Given the description of an element on the screen output the (x, y) to click on. 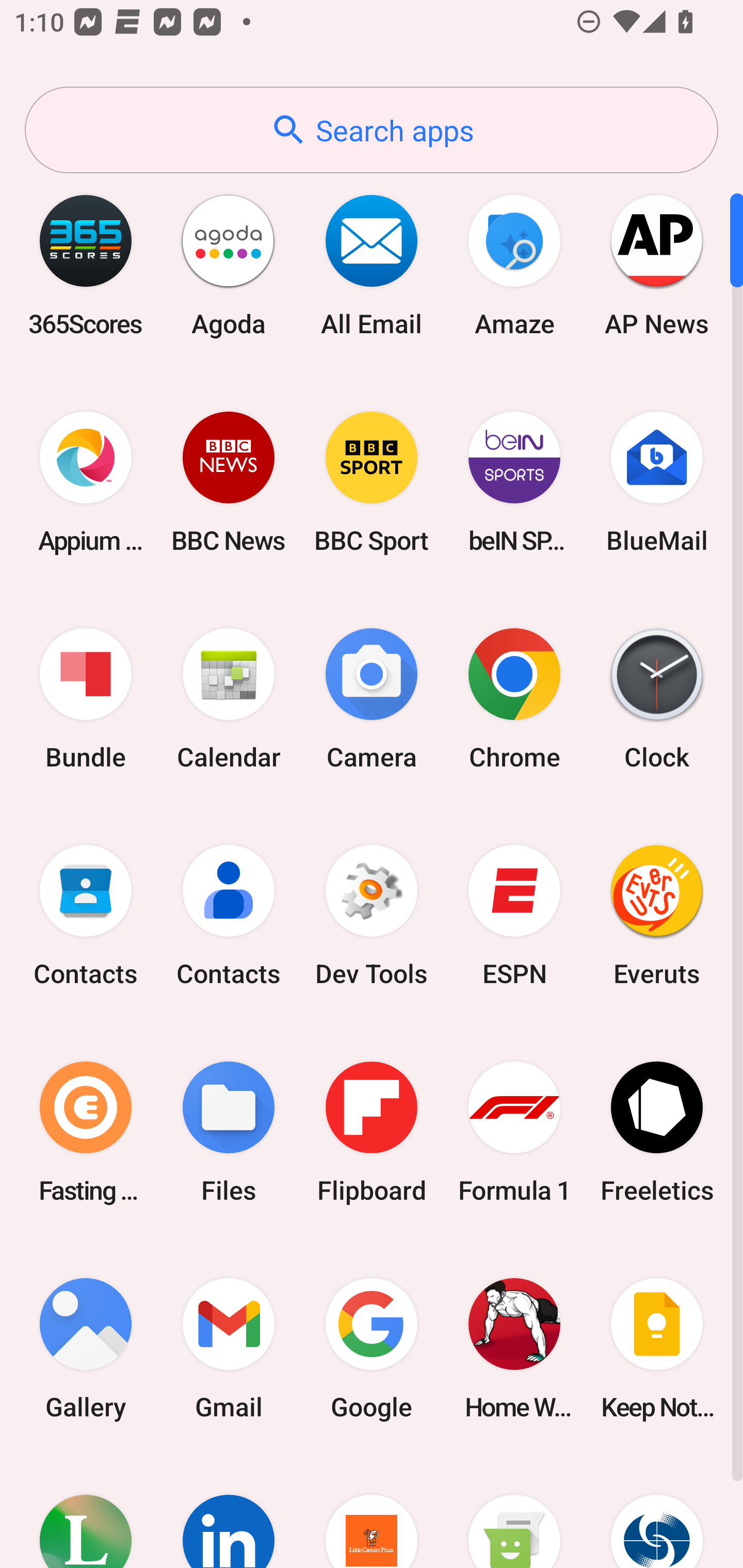
  Search apps (371, 130)
365Scores (85, 264)
Agoda (228, 264)
All Email (371, 264)
Amaze (514, 264)
AP News (656, 264)
Appium Settings (85, 482)
BBC News (228, 482)
BBC Sport (371, 482)
beIN SPORTS (514, 482)
BlueMail (656, 482)
Bundle (85, 699)
Calendar (228, 699)
Camera (371, 699)
Chrome (514, 699)
Clock (656, 699)
Contacts (85, 915)
Contacts (228, 915)
Dev Tools (371, 915)
ESPN (514, 915)
Everuts (656, 915)
Fasting Coach (85, 1131)
Files (228, 1131)
Flipboard (371, 1131)
Formula 1 (514, 1131)
Freeletics (656, 1131)
Gallery (85, 1348)
Gmail (228, 1348)
Google (371, 1348)
Home Workout (514, 1348)
Keep Notes (656, 1348)
